Given the description of an element on the screen output the (x, y) to click on. 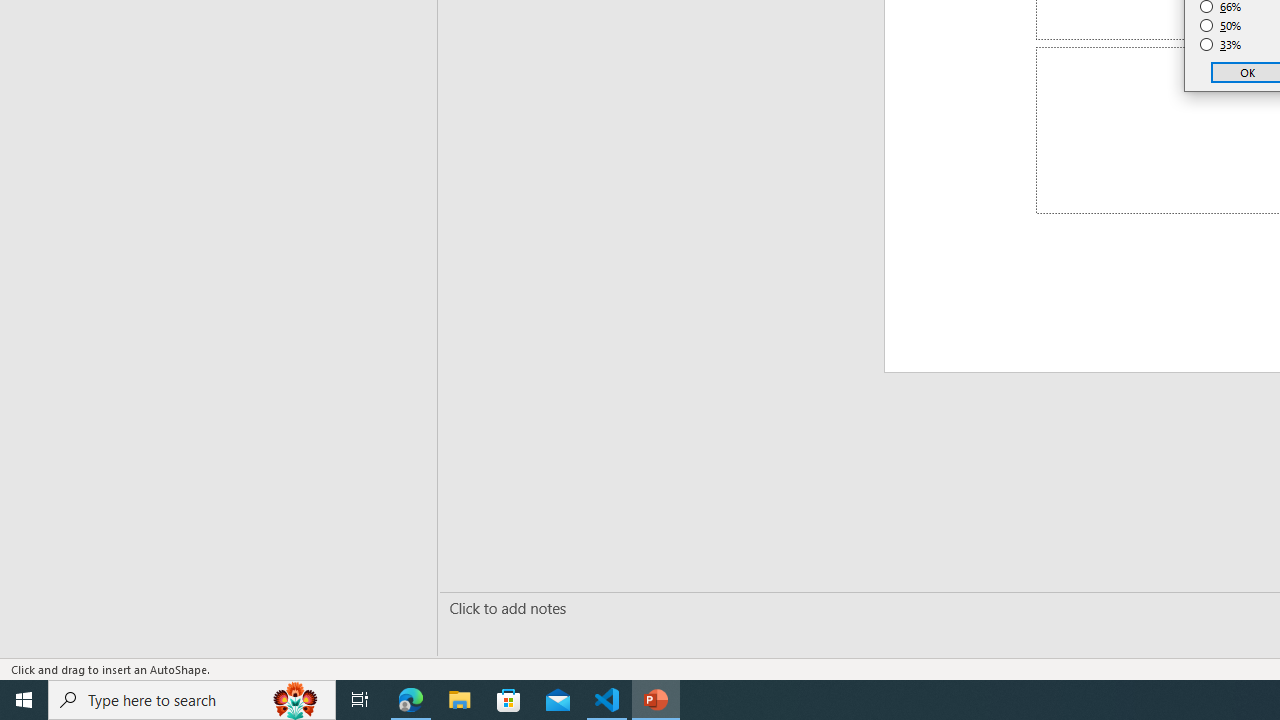
33% (1221, 44)
50% (1221, 25)
